Given the description of an element on the screen output the (x, y) to click on. 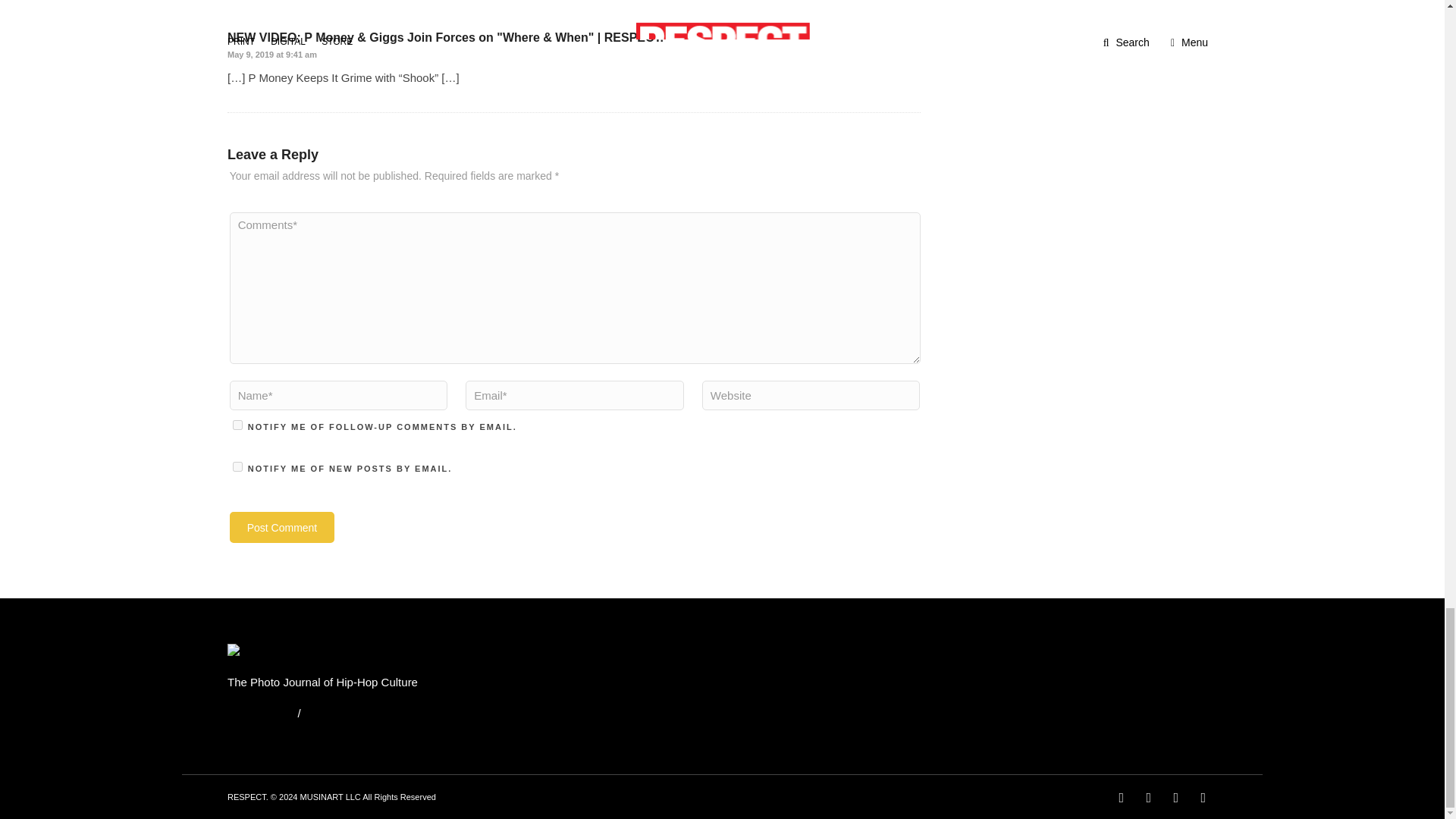
subscribe (237, 424)
subscribe (237, 466)
Post Comment (282, 526)
